Given the description of an element on the screen output the (x, y) to click on. 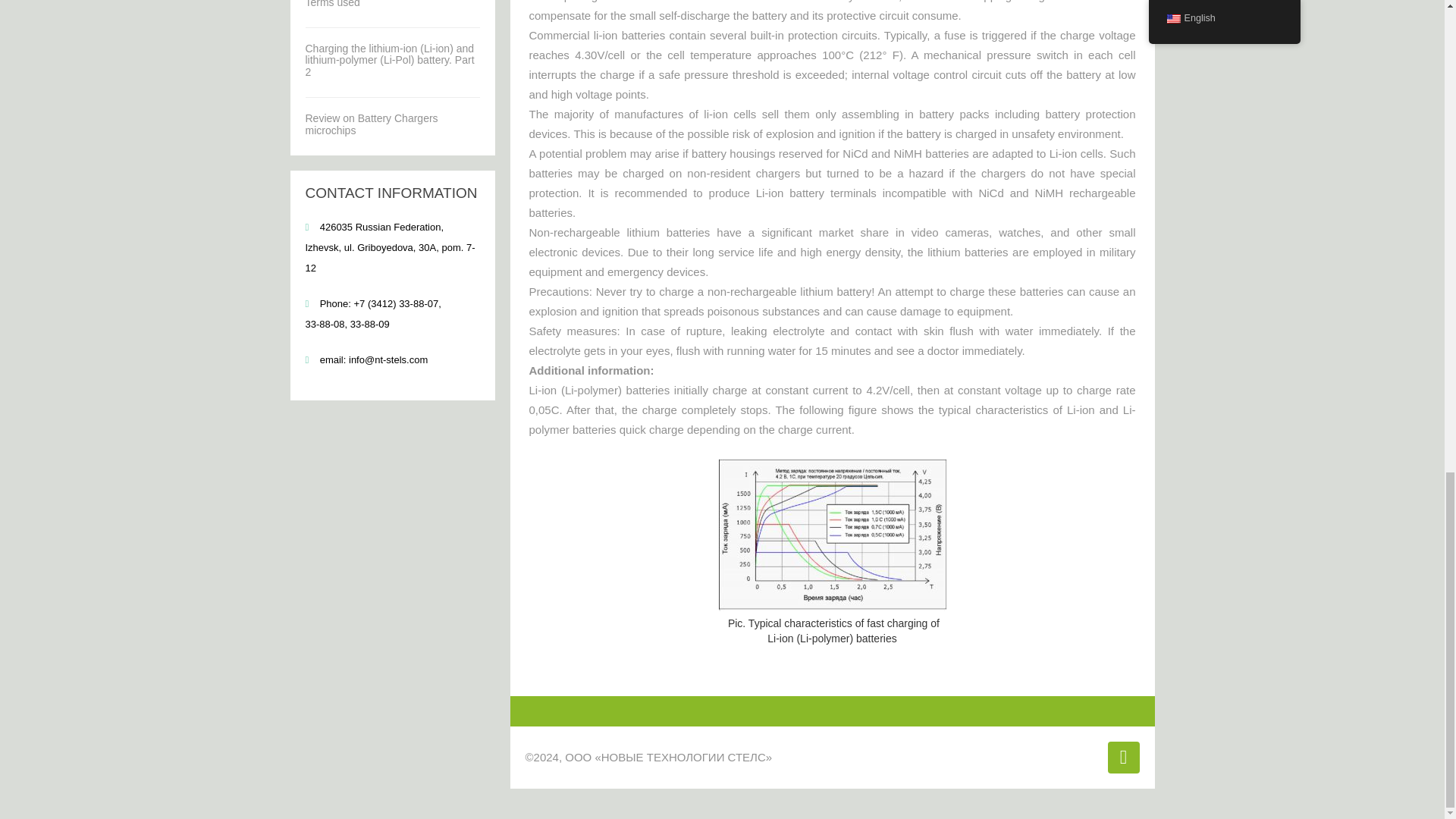
Review on Battery Chargers microchips (371, 123)
Terms used (331, 4)
